Given the description of an element on the screen output the (x, y) to click on. 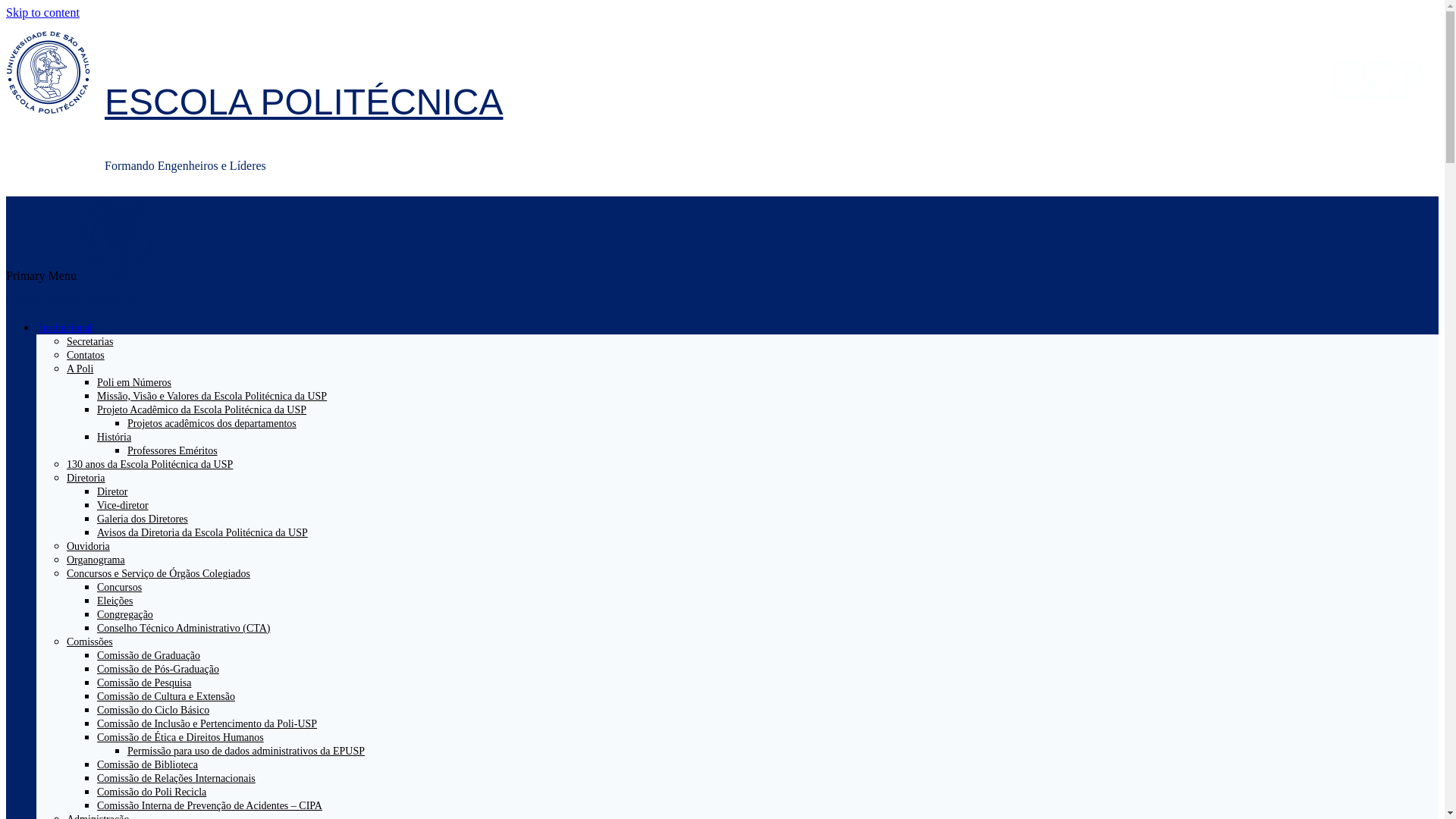
Organograma Element type: text (95, 559)
Ouvidoria Element type: text (87, 546)
Secretarias Element type: text (89, 341)
Skip to content Element type: text (42, 12)
Contatos Element type: text (85, 354)
Institucional Element type: text (71, 327)
Diretor Element type: text (112, 491)
Diretoria Element type: text (91, 477)
Vice-diretor Element type: text (122, 505)
A Poli Element type: text (85, 368)
Concursos Element type: text (119, 587)
Galeria dos Diretores Element type: text (142, 518)
